Given the description of an element on the screen output the (x, y) to click on. 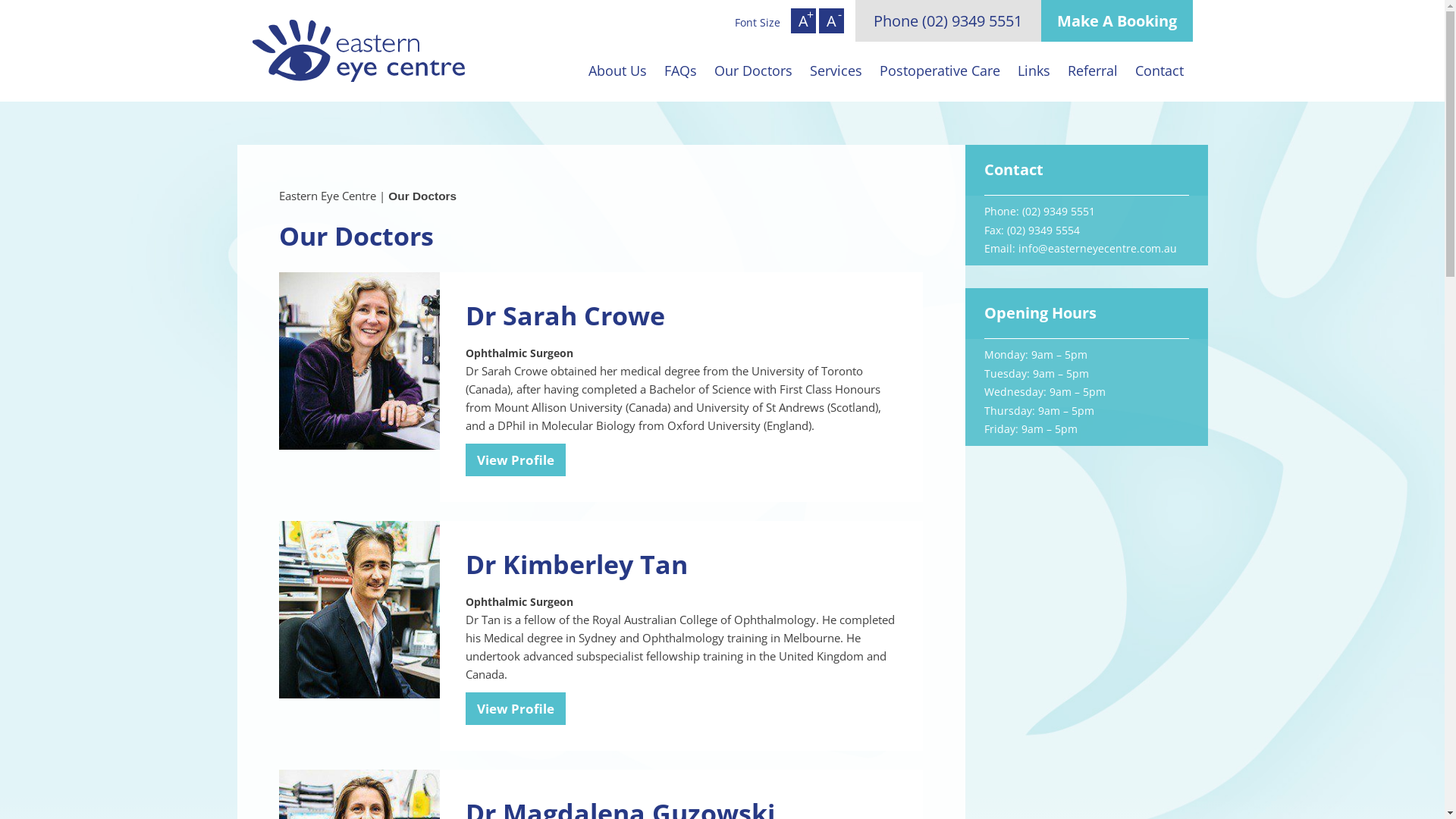
FAQs Element type: text (680, 69)
Phone (02) 9349 5551 Element type: text (948, 20)
Our Doctors Element type: text (752, 69)
View Profile Element type: text (515, 708)
A
+ Element type: text (802, 20)
View Profile Element type: text (515, 459)
A
- Element type: text (831, 20)
Make A Booking Element type: text (1116, 20)
Eastern Eye Centre Element type: text (327, 195)
About Us Element type: text (617, 69)
info@easterneyecentre.com.au Element type: text (1096, 248)
Services Element type: text (835, 69)
Contact Element type: text (1159, 69)
Postoperative Care Element type: text (939, 69)
Links Element type: text (1033, 69)
Referral Element type: text (1092, 69)
